Given the description of an element on the screen output the (x, y) to click on. 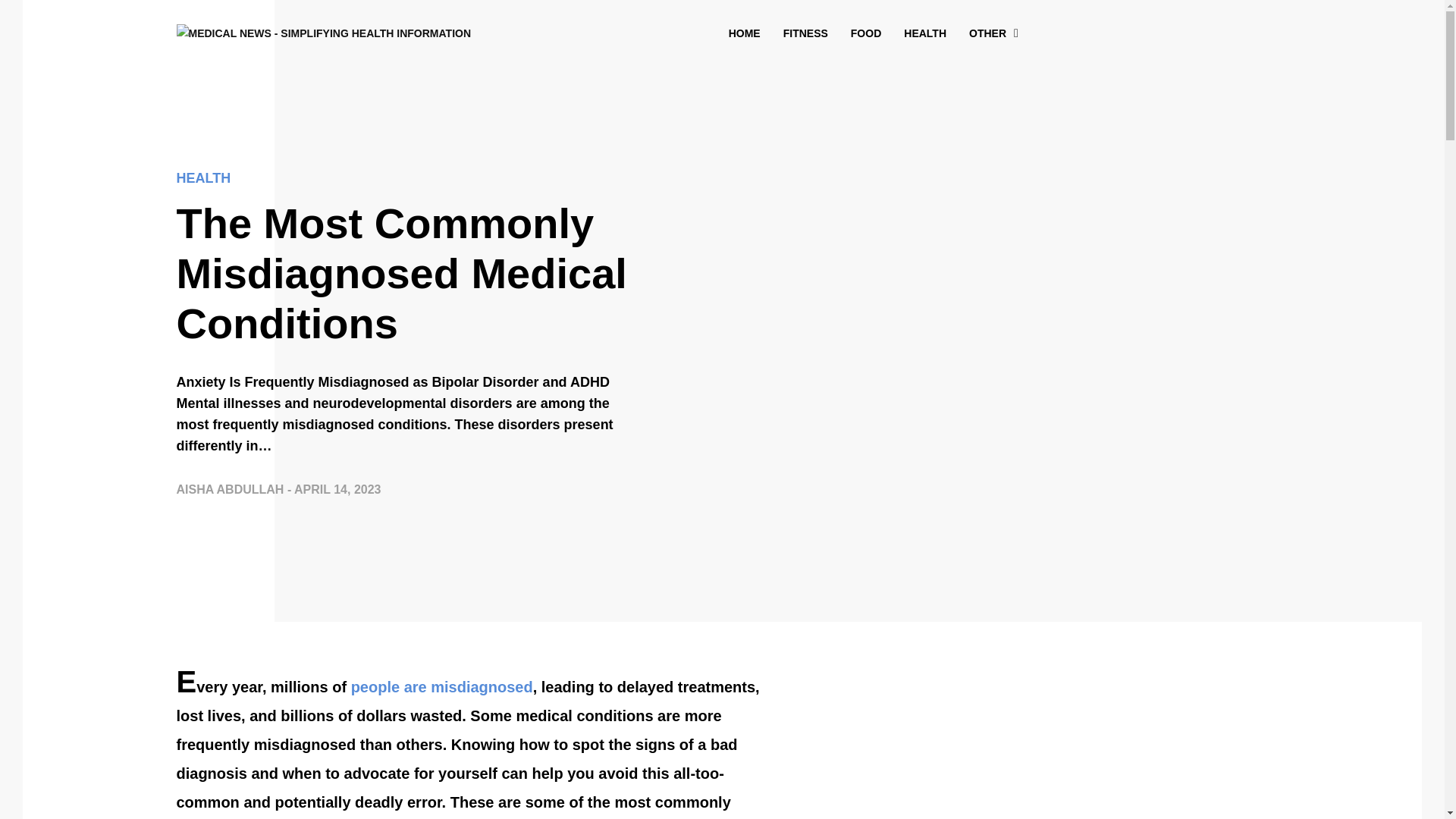
OTHER (986, 33)
HEALTH (924, 33)
HOME (744, 33)
AISHA ABDULLAH (231, 489)
FOOD (865, 33)
people are misdiagnosed (441, 686)
FITNESS (805, 33)
HEALTH (403, 182)
